Given the description of an element on the screen output the (x, y) to click on. 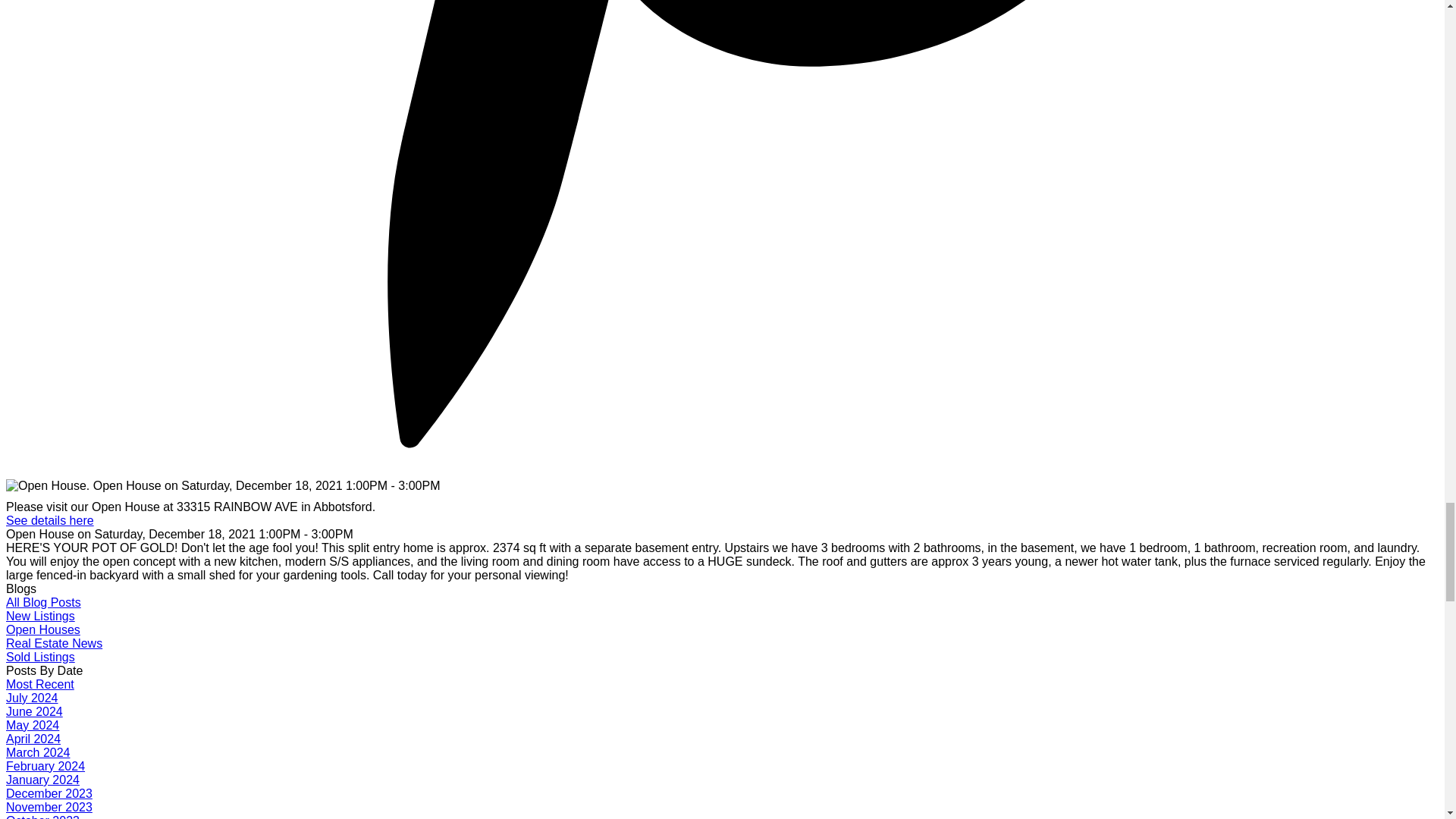
Open Houses (42, 629)
May 2024 (32, 725)
Most Recent (39, 684)
April 2024 (33, 738)
See details here (49, 520)
Real Estate News (53, 643)
July 2024 (31, 697)
Sold Listings (40, 656)
All Blog Posts (43, 602)
March 2024 (37, 752)
June 2024 (33, 711)
New Listings (40, 615)
